Given the description of an element on the screen output the (x, y) to click on. 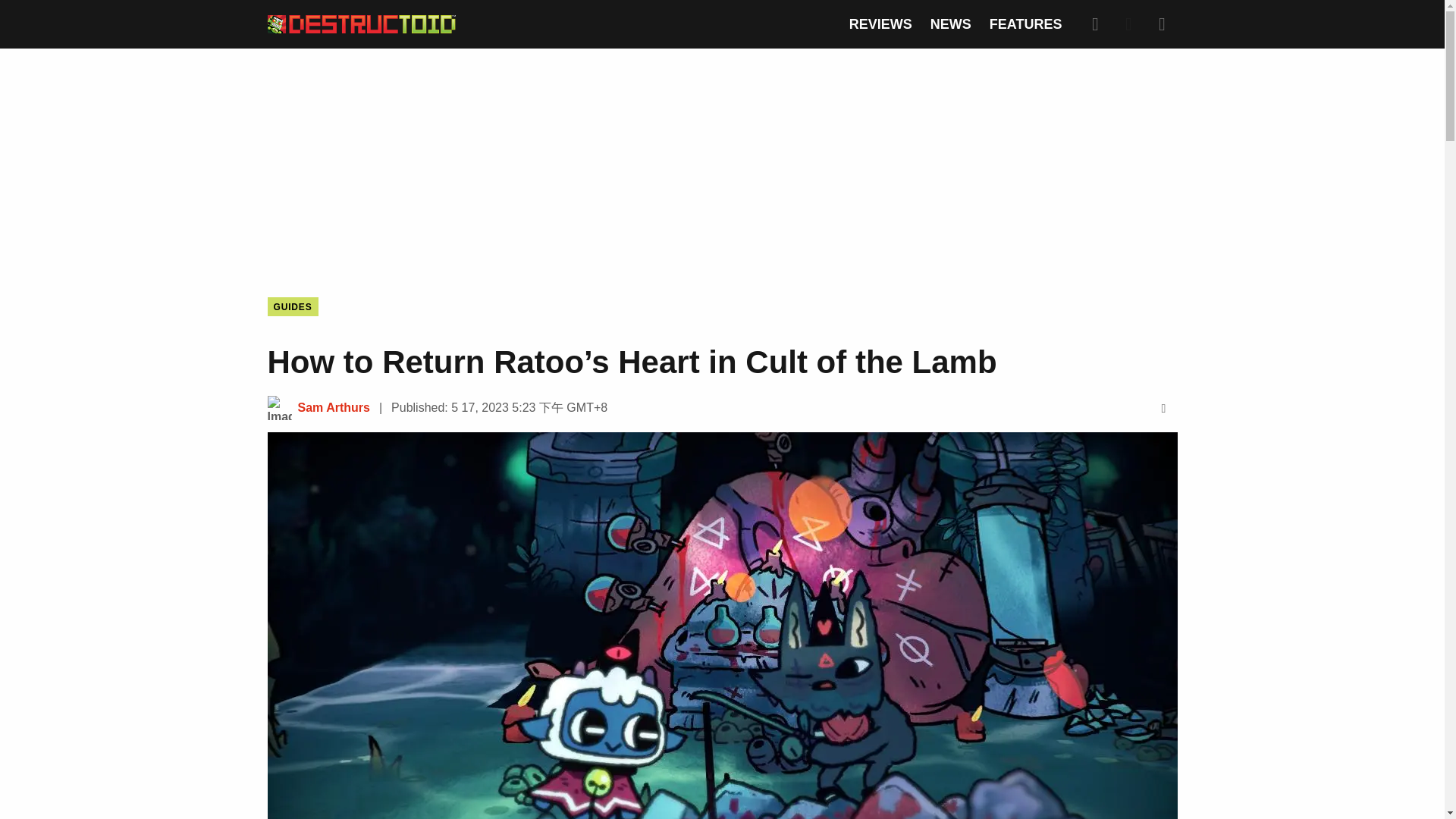
REVIEWS (880, 23)
NEWS (950, 23)
Expand Menu (1161, 24)
GUIDES (291, 306)
Search (1094, 24)
Dark Mode (1127, 24)
FEATURES (1026, 23)
